Given the description of an element on the screen output the (x, y) to click on. 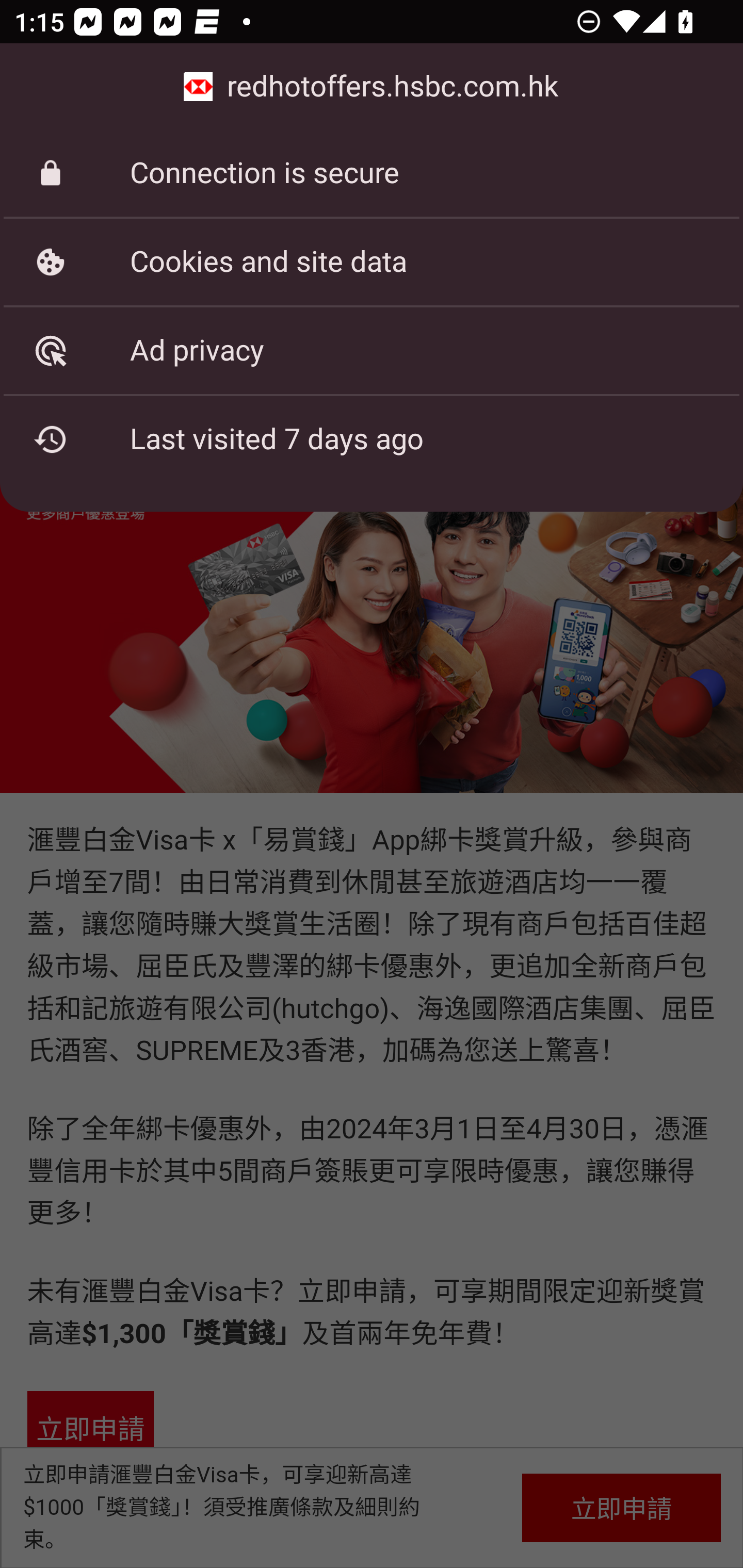
redhotoffers.hsbc.com.hk (371, 86)
Connection is secure (371, 173)
Cookies and site data (371, 261)
Ad privacy (371, 350)
Last visited 7 days ago (371, 439)
